Given the description of an element on the screen output the (x, y) to click on. 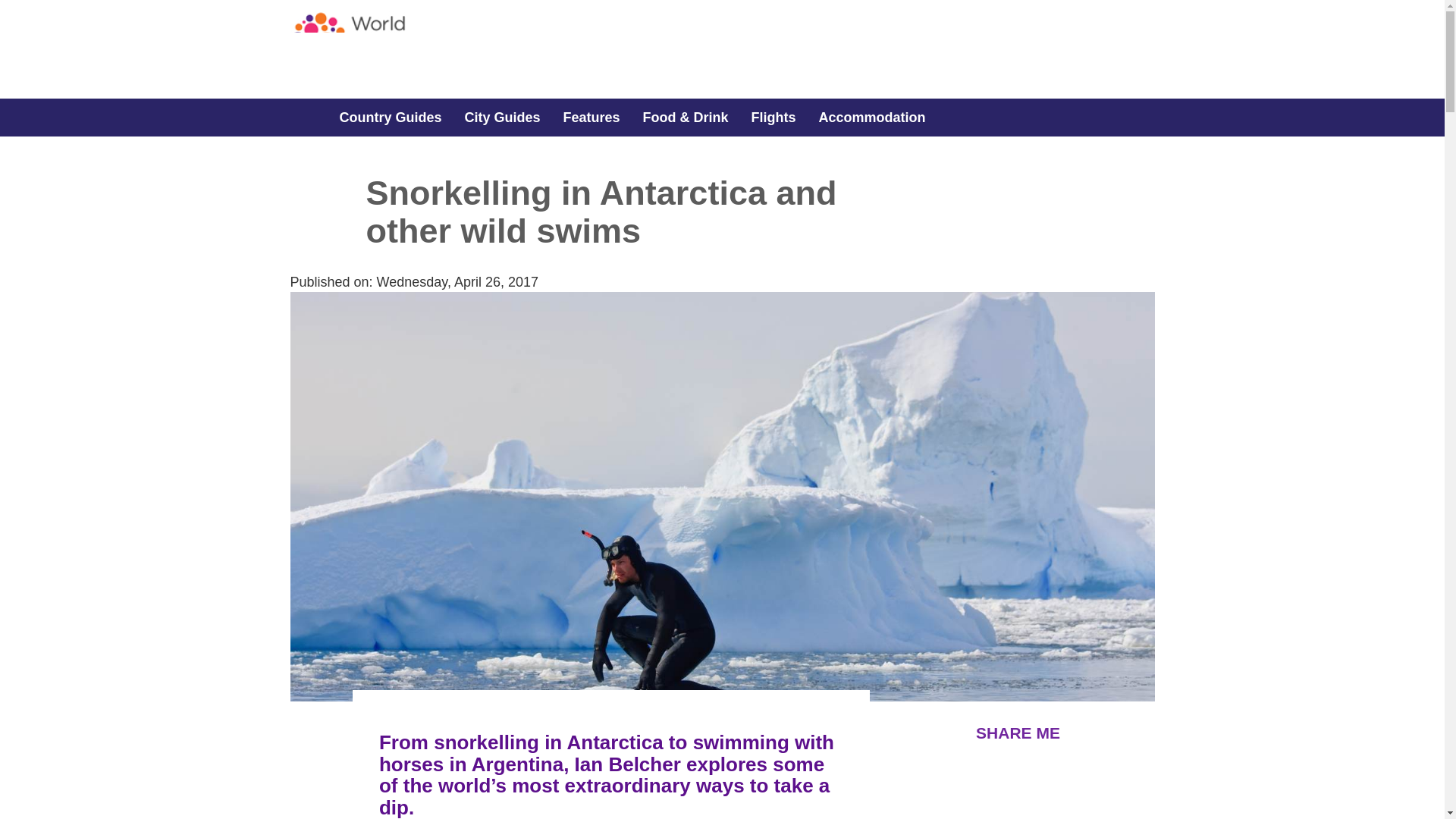
Share this article on FaceBook (929, 770)
You can share this on linkedIn here (1108, 770)
Features (591, 117)
Pinrest share coming soon! (1067, 770)
Accommodation (872, 117)
City Guides (501, 117)
Flights (773, 117)
Share this article on Twitter (973, 770)
Country Guides (389, 117)
